Given the description of an element on the screen output the (x, y) to click on. 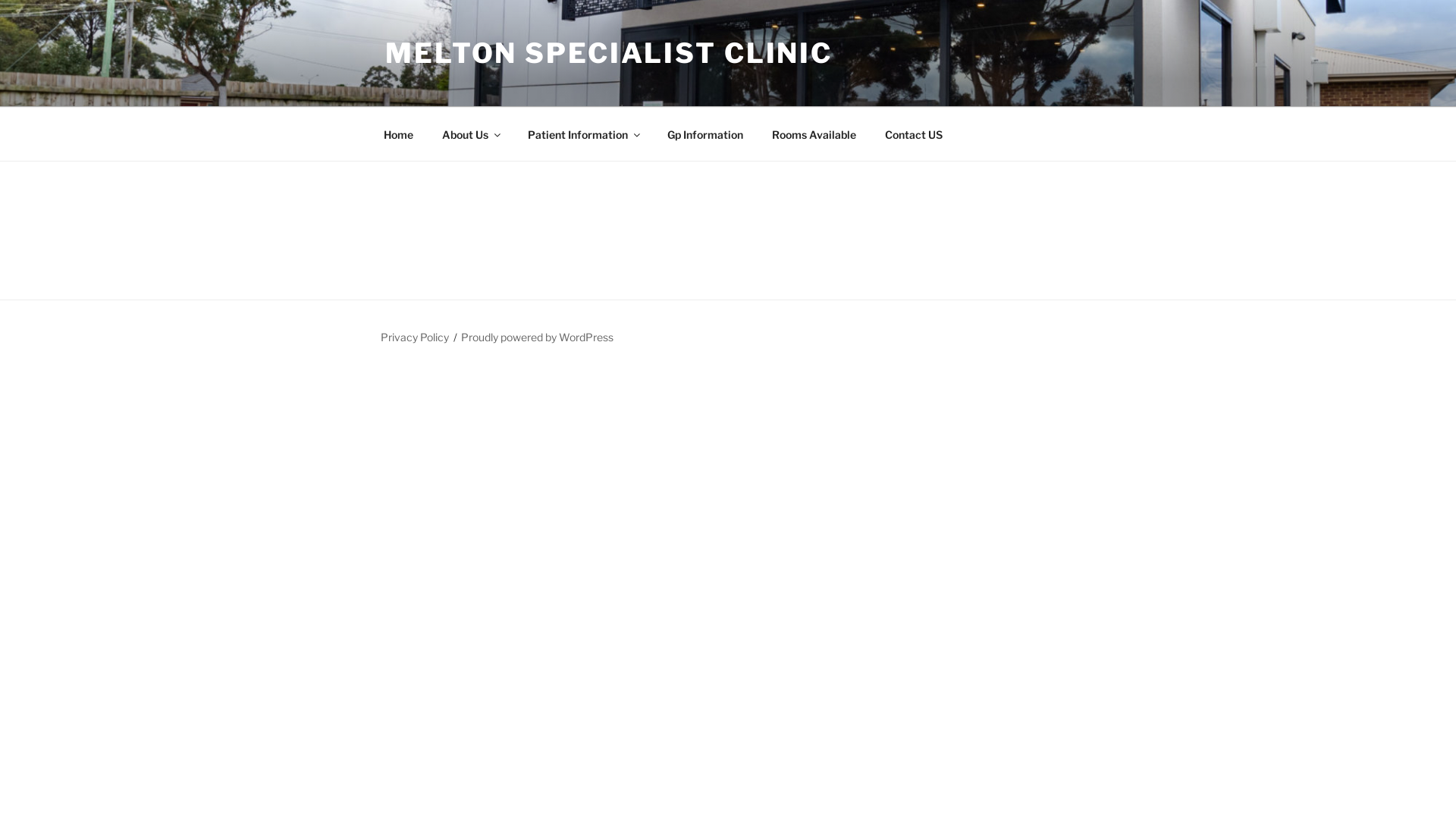
Gp Information Element type: text (704, 133)
Proudly powered by WordPress Element type: text (537, 336)
About Us Element type: text (469, 133)
Contact US Element type: text (913, 133)
Rooms Available Element type: text (813, 133)
MELTON SPECIALIST CLINIC Element type: text (608, 52)
Patient Information Element type: text (582, 133)
Privacy Policy Element type: text (414, 336)
Home Element type: text (398, 133)
